Given the description of an element on the screen output the (x, y) to click on. 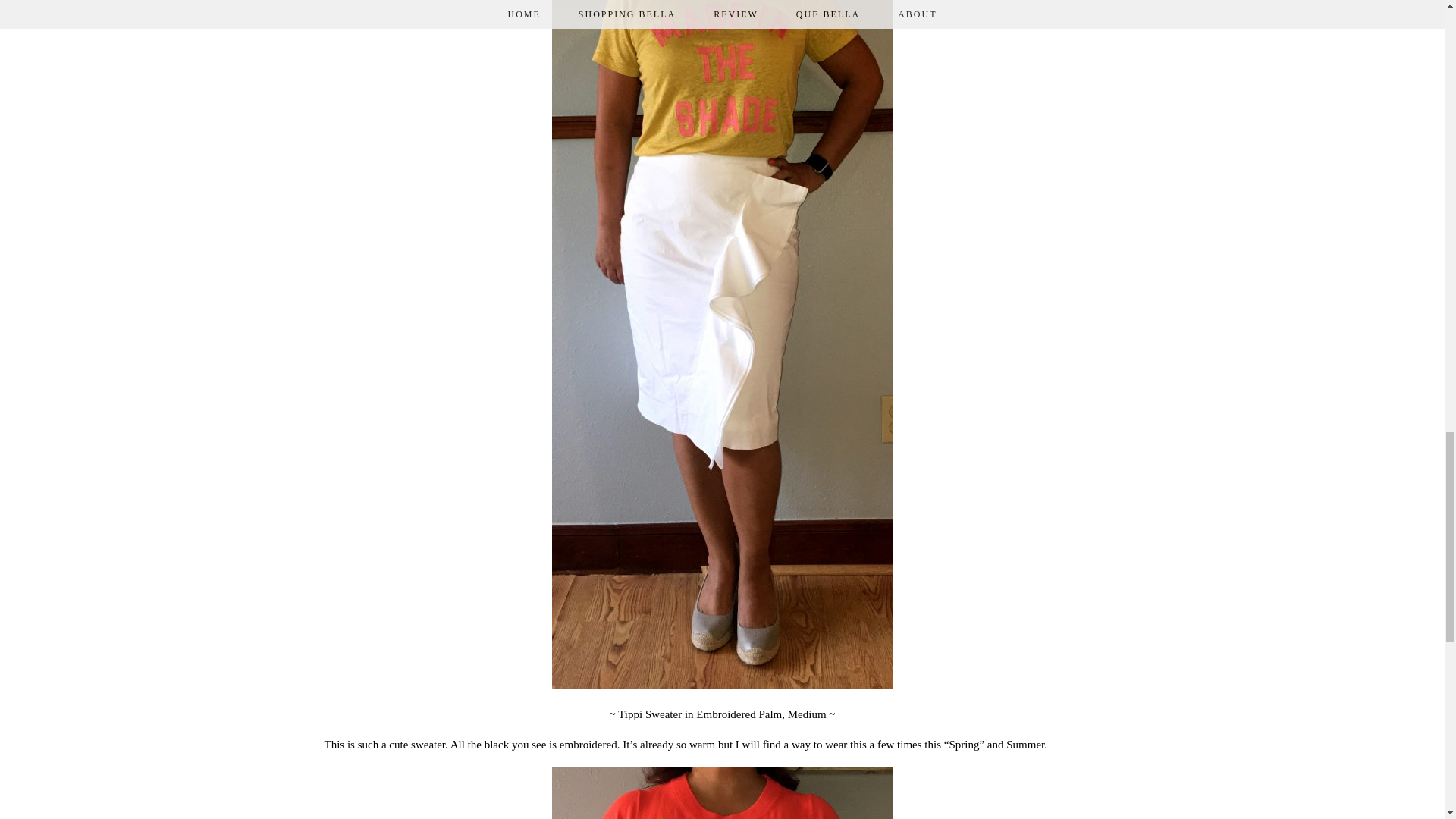
Tippi Sweater in Embroidered Palm (699, 714)
